Given the description of an element on the screen output the (x, y) to click on. 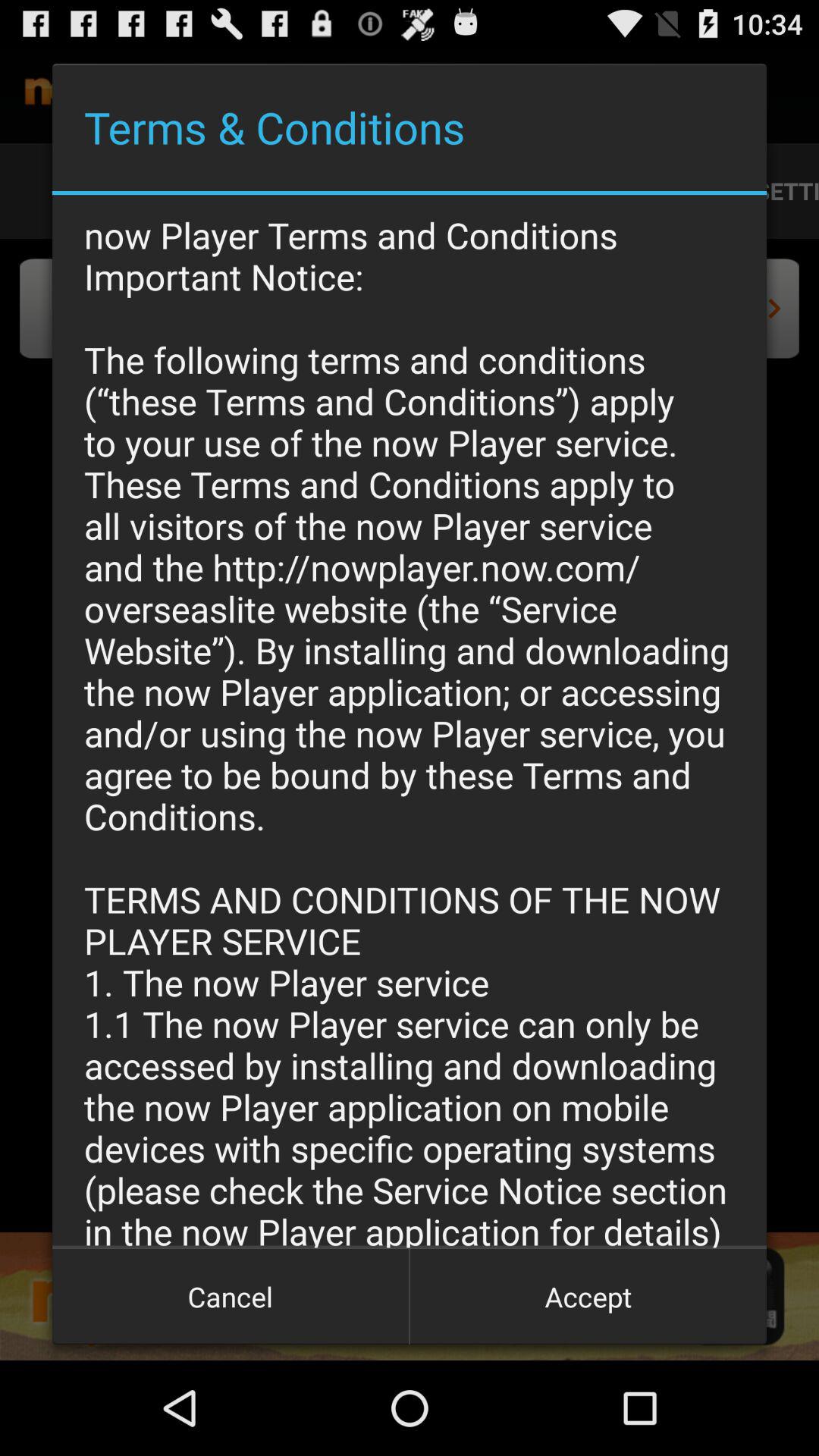
swipe to accept (588, 1296)
